Given the description of an element on the screen output the (x, y) to click on. 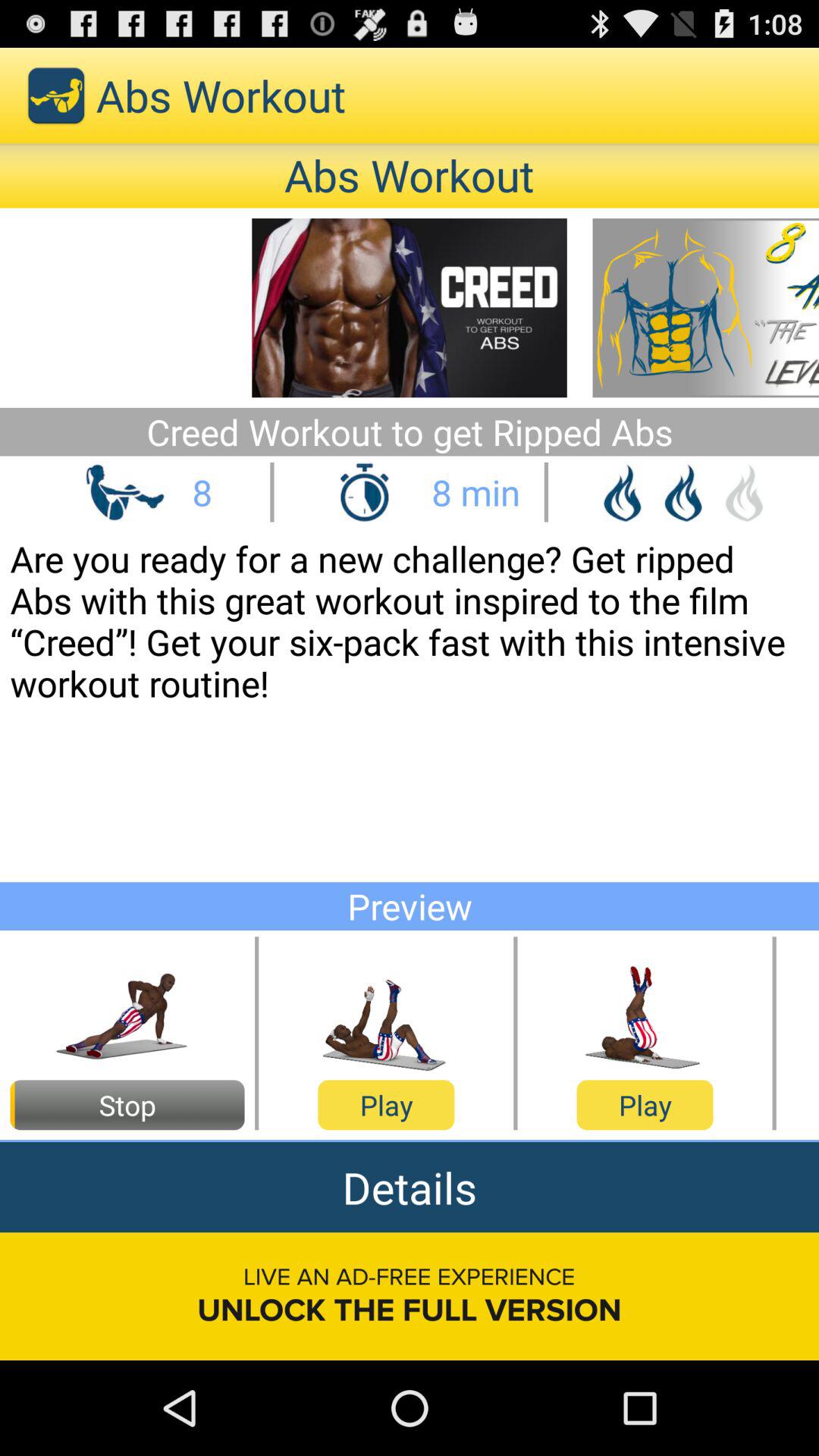
swipe until the details app (409, 1187)
